Given the description of an element on the screen output the (x, y) to click on. 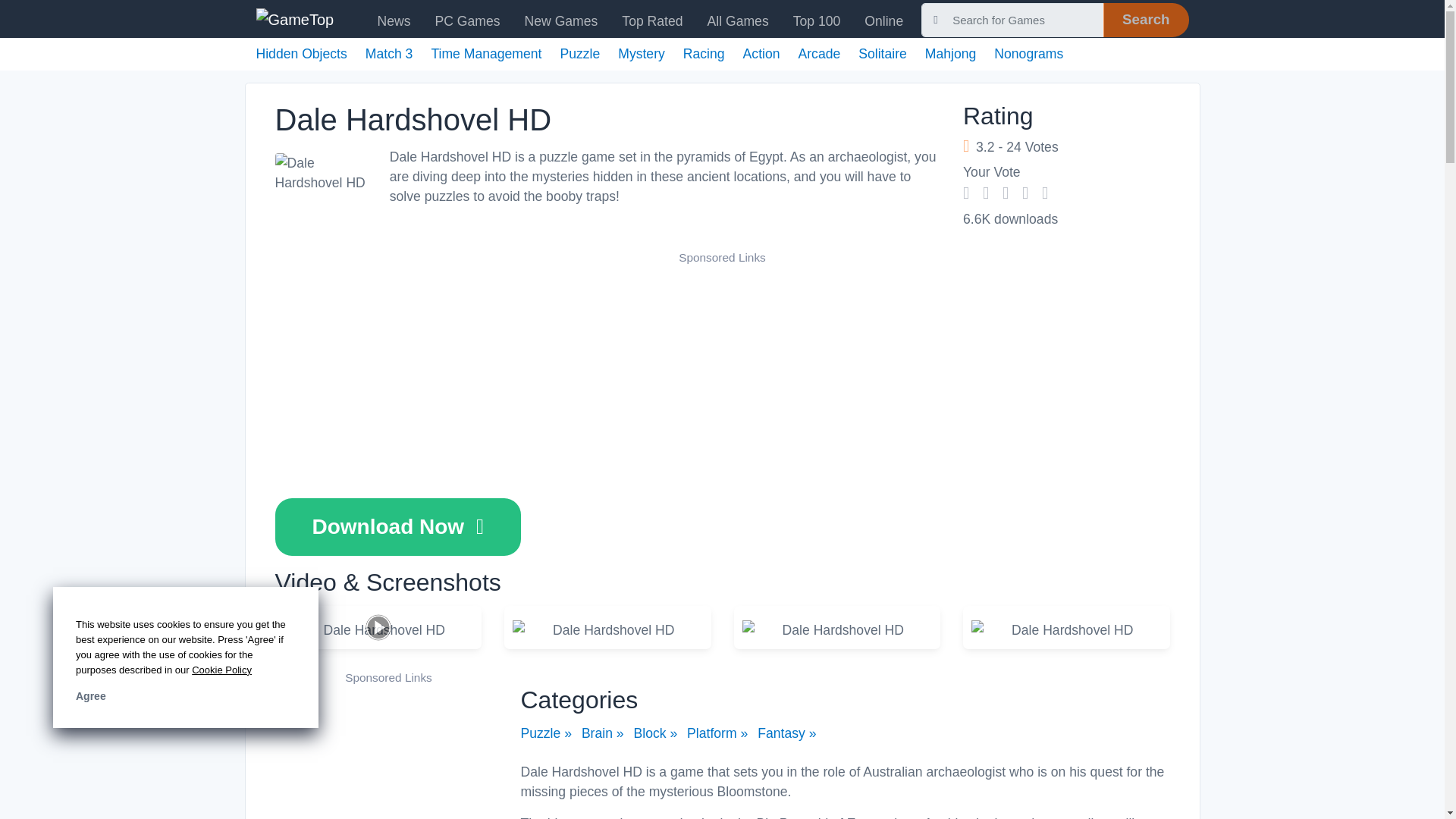
Dale Hardshovel HD (1065, 629)
Time Management (485, 53)
Hidden Objects (301, 53)
Match 3 (389, 53)
Solitaire (883, 53)
Online (883, 20)
Top 100 (817, 20)
Action (761, 53)
Puzzle (579, 53)
Dale Hardshovel HD (320, 173)
Racing (703, 53)
Download Now (398, 526)
Dale Hardshovel HD (378, 629)
PC Games (467, 20)
Mystery (641, 53)
